Given the description of an element on the screen output the (x, y) to click on. 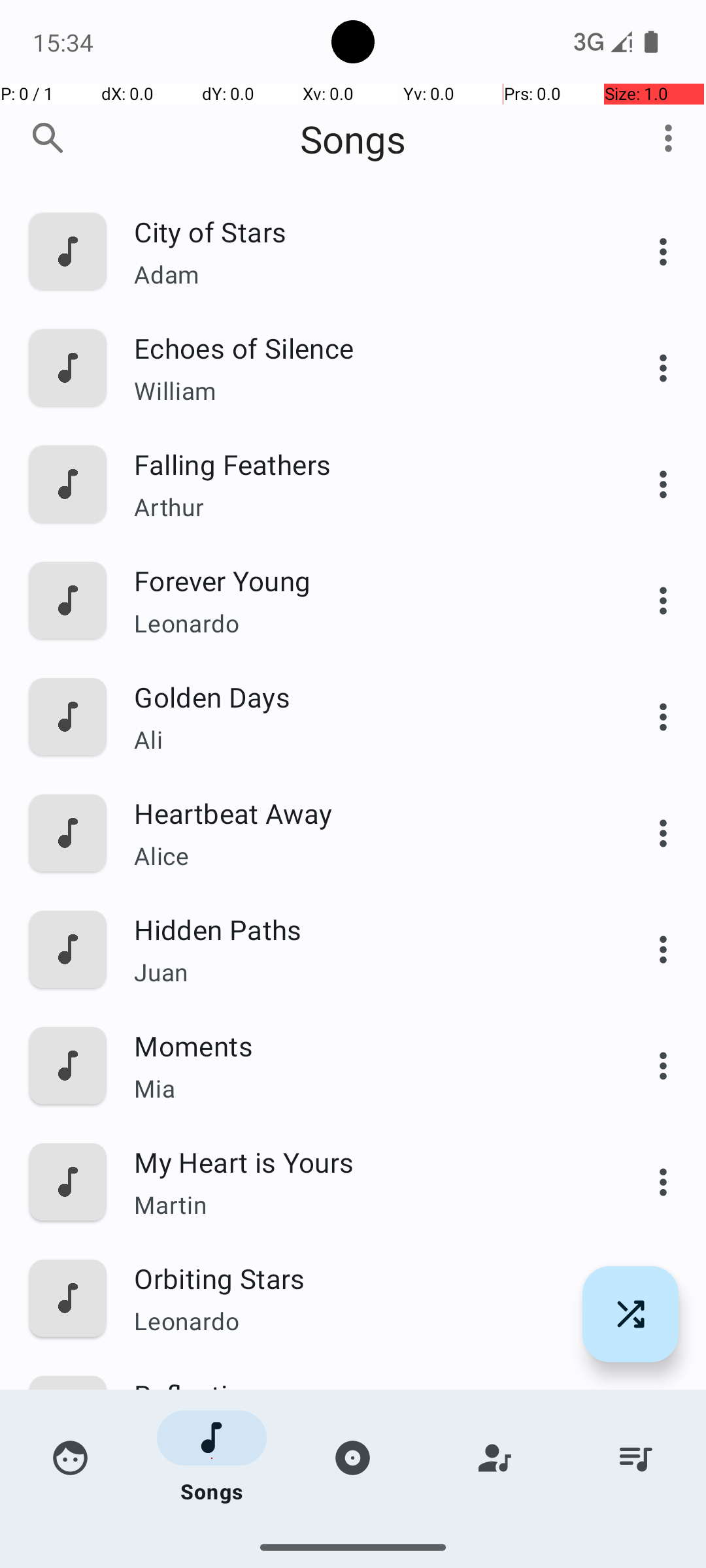
City of Stars Element type: android.widget.TextView (363, 231)
Adam Element type: android.widget.TextView (363, 273)
Echoes of Silence Element type: android.widget.TextView (363, 347)
William Element type: android.widget.TextView (363, 390)
Falling Feathers Element type: android.widget.TextView (363, 463)
Arthur Element type: android.widget.TextView (363, 506)
Forever Young Element type: android.widget.TextView (363, 580)
Leonardo Element type: android.widget.TextView (363, 622)
Golden Days Element type: android.widget.TextView (363, 696)
Ali Element type: android.widget.TextView (363, 738)
Heartbeat Away Element type: android.widget.TextView (363, 812)
Alice Element type: android.widget.TextView (363, 855)
Hidden Paths Element type: android.widget.TextView (363, 928)
Juan Element type: android.widget.TextView (363, 971)
Moments Element type: android.widget.TextView (363, 1045)
Mia Element type: android.widget.TextView (363, 1087)
My Heart is Yours Element type: android.widget.TextView (363, 1161)
Martin Element type: android.widget.TextView (363, 1204)
Orbiting Stars Element type: android.widget.TextView (363, 1277)
Reflections Element type: android.widget.TextView (363, 1394)
Jose Element type: android.widget.TextView (363, 1436)
Serenity Now Element type: android.widget.TextView (363, 1510)
Oscar Element type: android.widget.TextView (363, 1538)
